Given the description of an element on the screen output the (x, y) to click on. 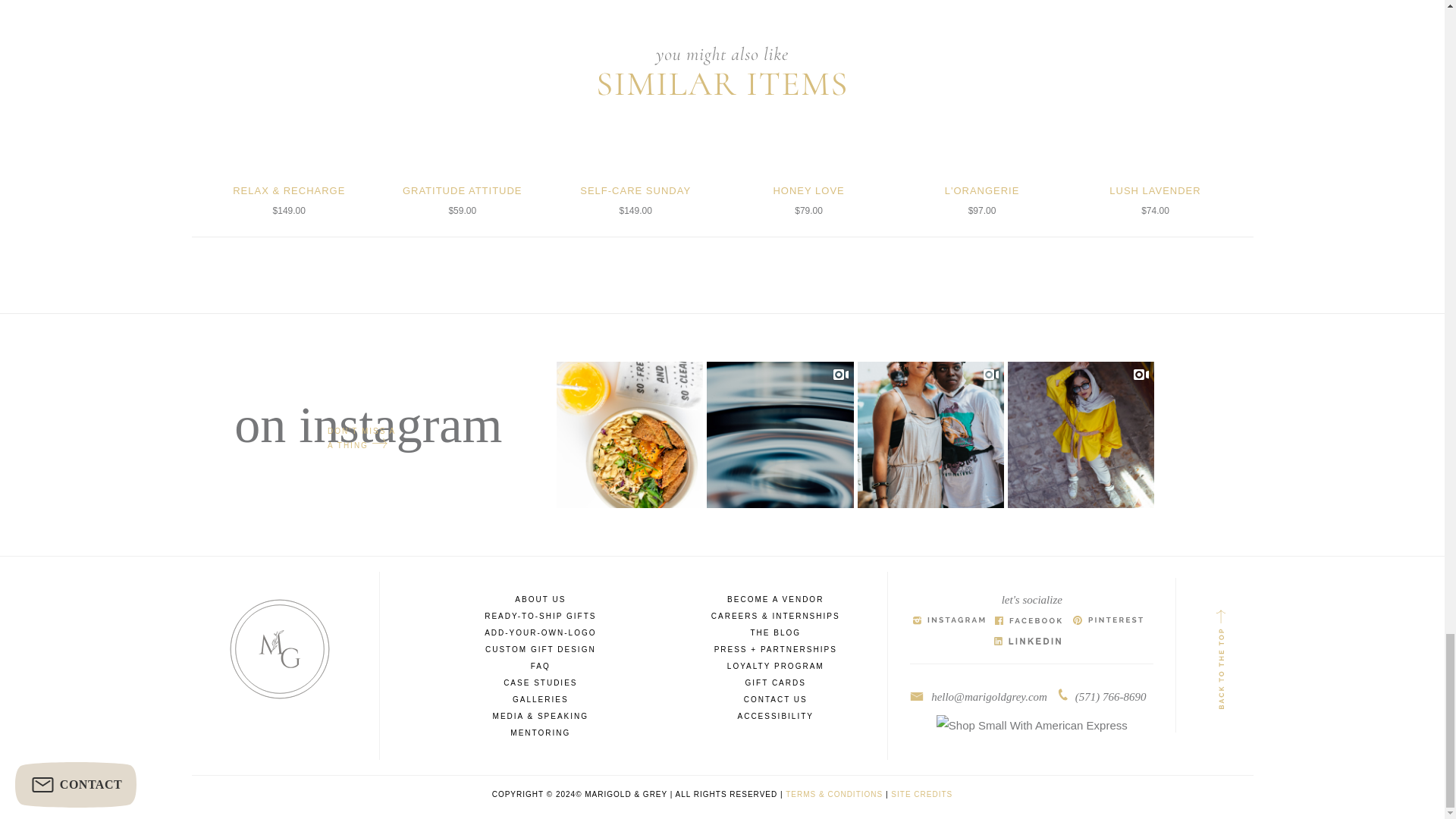
Gratitude Attitude (462, 132)
Honey Love (809, 132)
L'Orangerie (981, 132)
Lush Lavender (1155, 132)
Self-Care Sunday (635, 132)
